Given the description of an element on the screen output the (x, y) to click on. 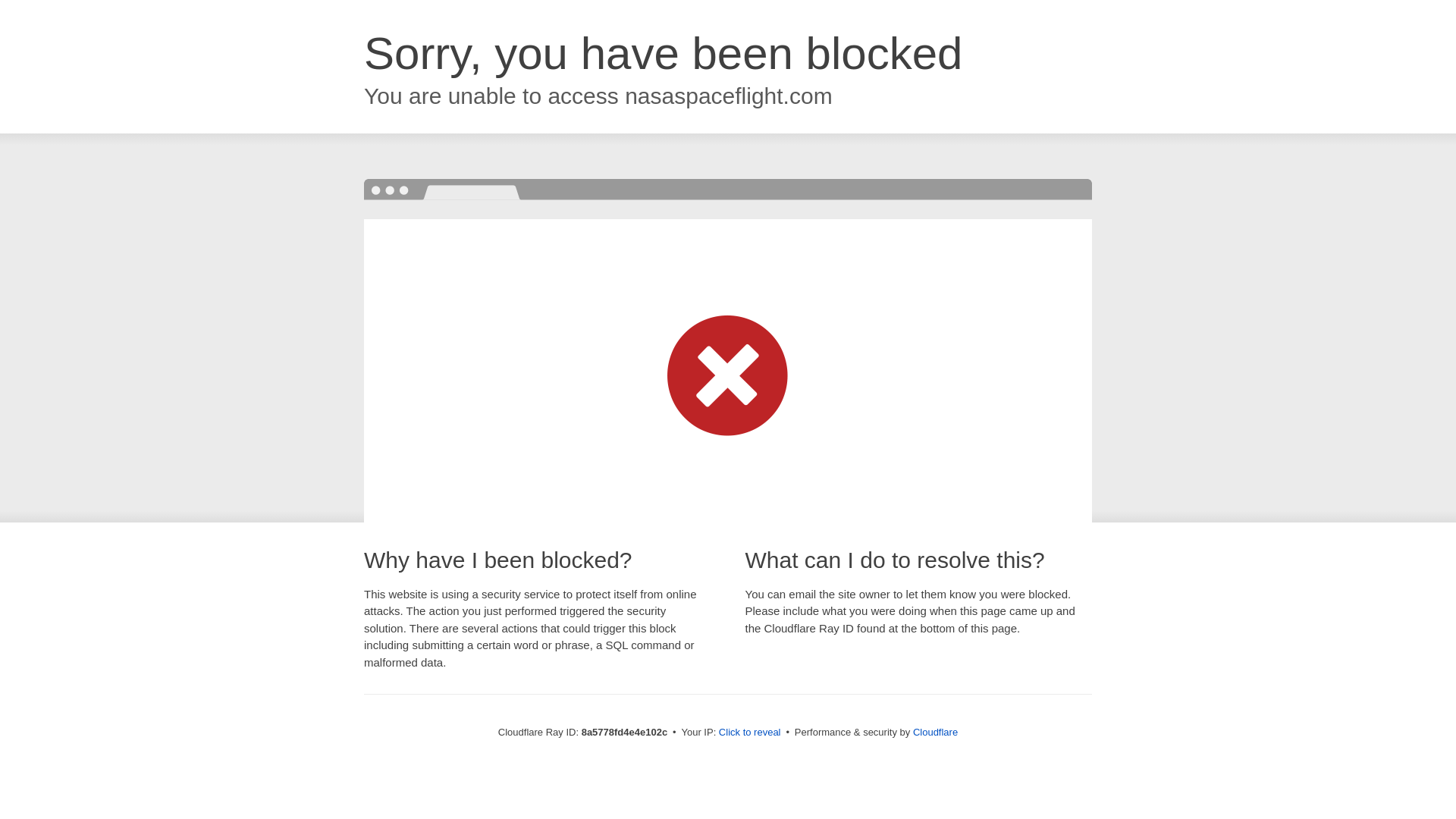
Cloudflare (935, 731)
Click to reveal (749, 732)
